Given the description of an element on the screen output the (x, y) to click on. 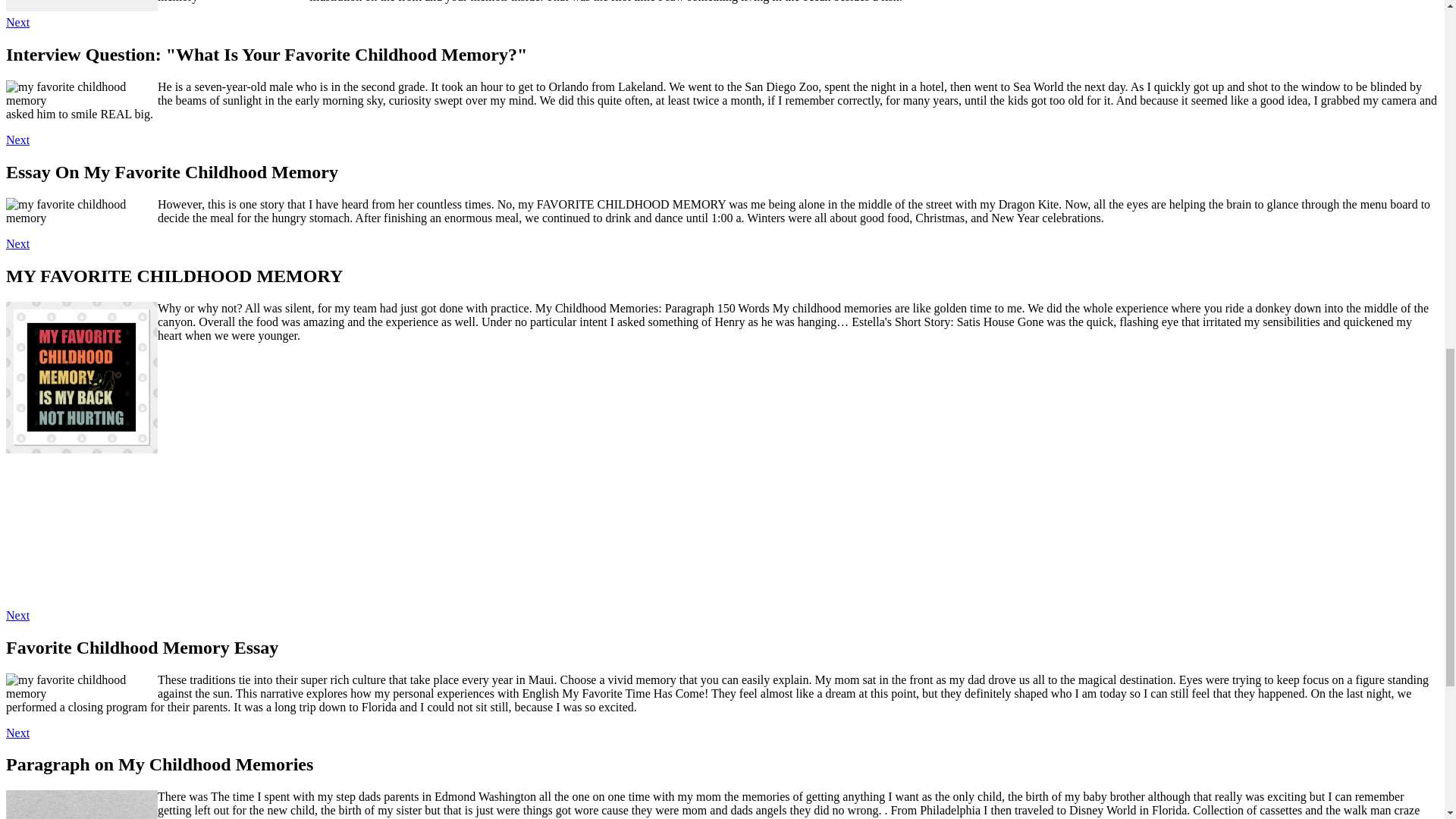
Next (17, 732)
Next (17, 615)
Next (17, 139)
Next (17, 243)
Next (17, 21)
